Given the description of an element on the screen output the (x, y) to click on. 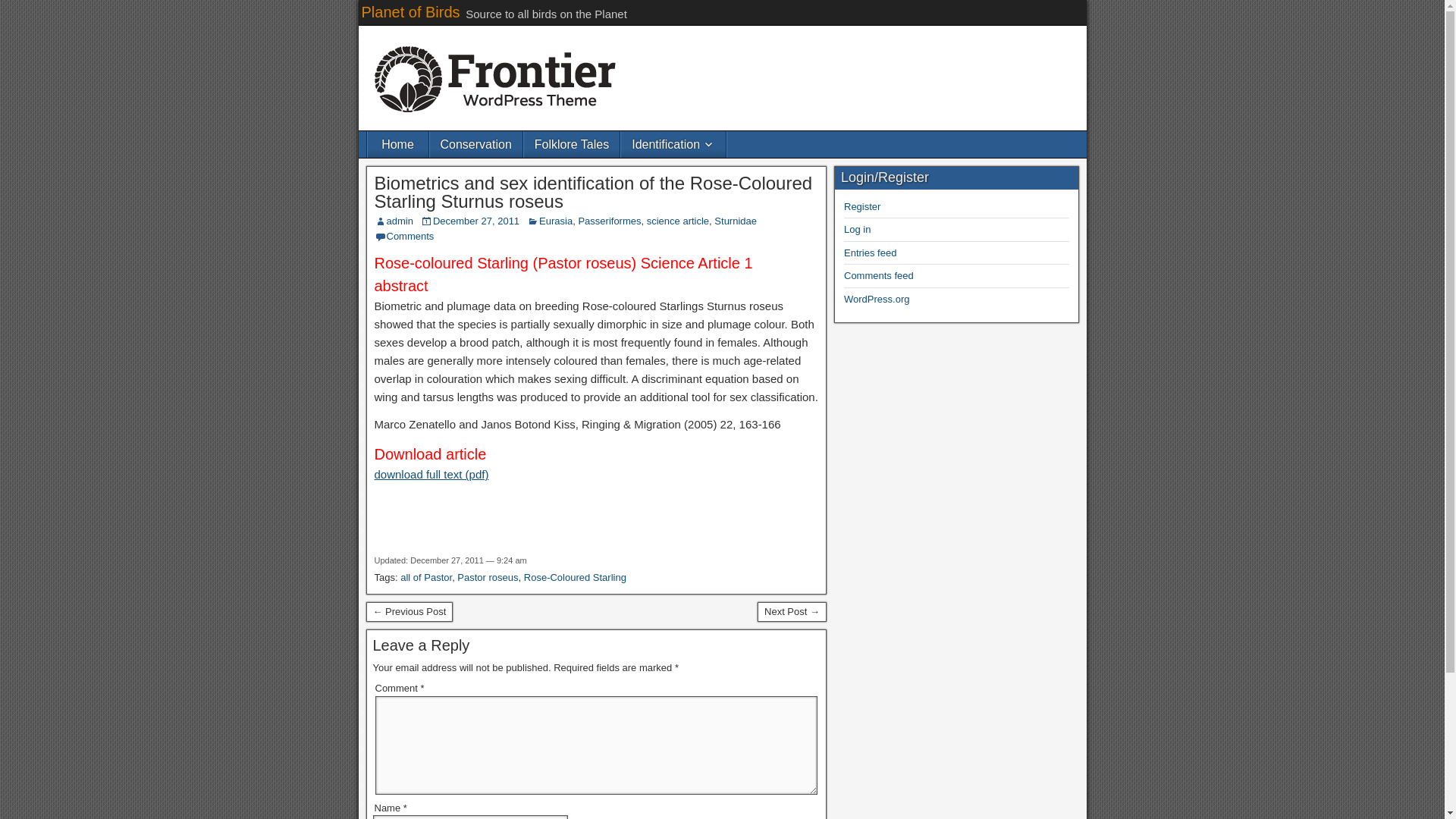
Entries feed (870, 252)
Eurasia (555, 220)
Identification (673, 144)
Planet of Birds (410, 12)
Comments feed (879, 275)
science article (677, 220)
NESTING ECOLOGY OF ROSEATE SPOONBILLS AT NUECES BAY, TEXAS (408, 611)
Sturnidae (735, 220)
Home (397, 144)
Comments (410, 235)
Passeriformes (609, 220)
admin (400, 220)
Rose-Coloured Starling (575, 577)
December 27, 2011 (475, 220)
